Given the description of an element on the screen output the (x, y) to click on. 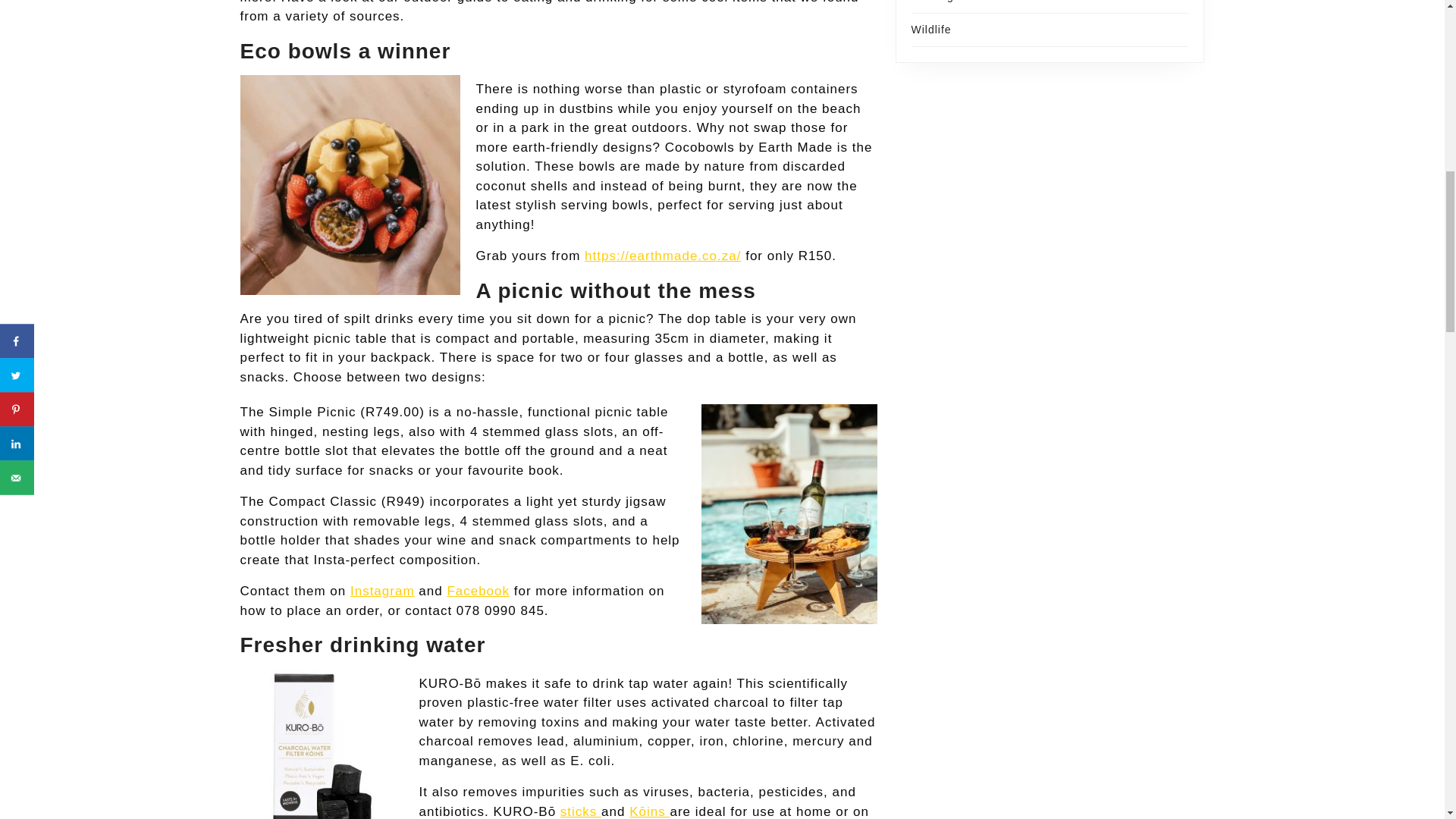
sticks  (580, 811)
Facebook (477, 590)
Instagram (382, 590)
